Given the description of an element on the screen output the (x, y) to click on. 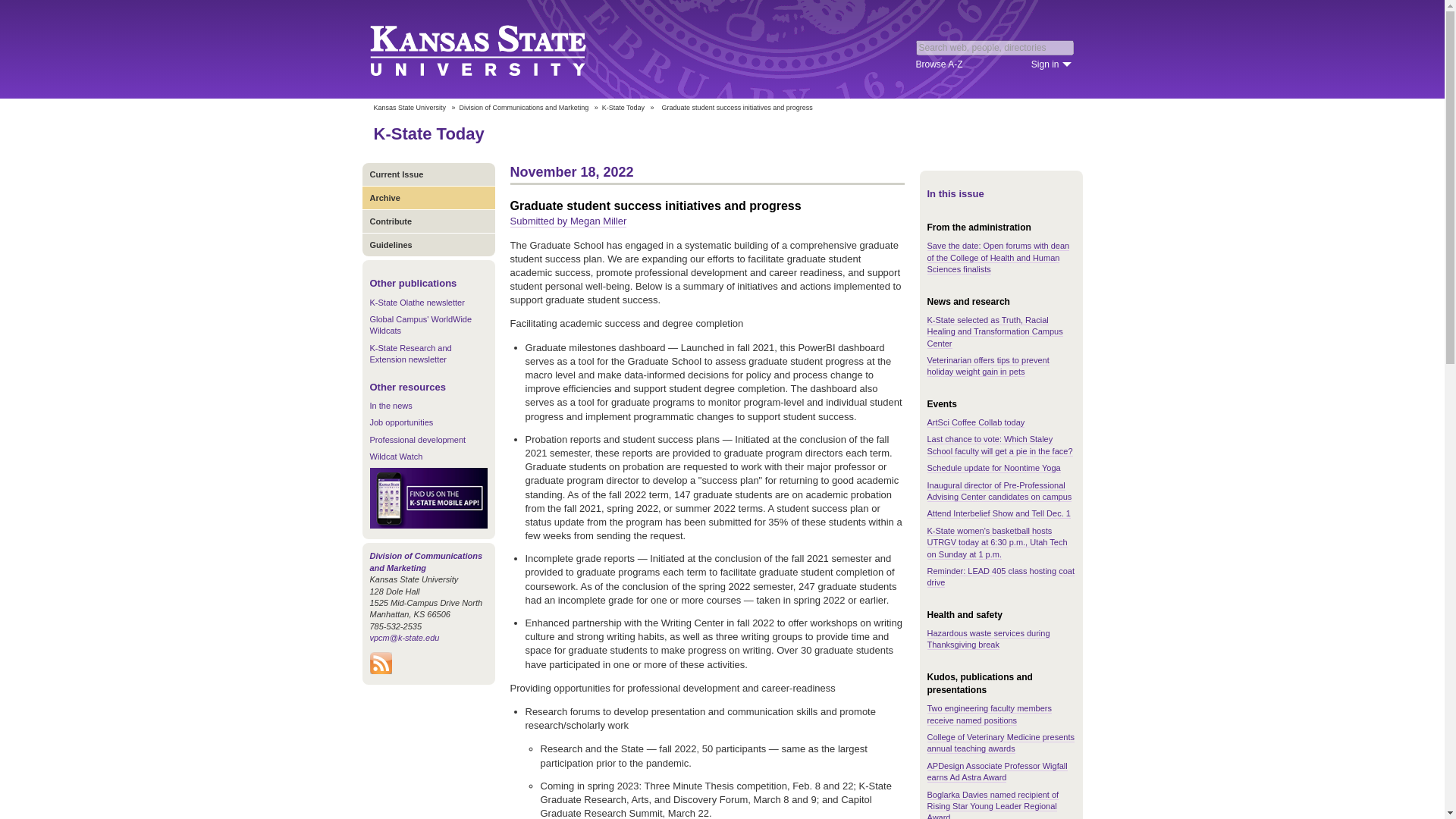
ArtSci Coffee Collab today (975, 422)
Archive (428, 197)
Submitted by Megan Miller (567, 221)
Guidelines (428, 244)
Sign in (1050, 64)
